Given the description of an element on the screen output the (x, y) to click on. 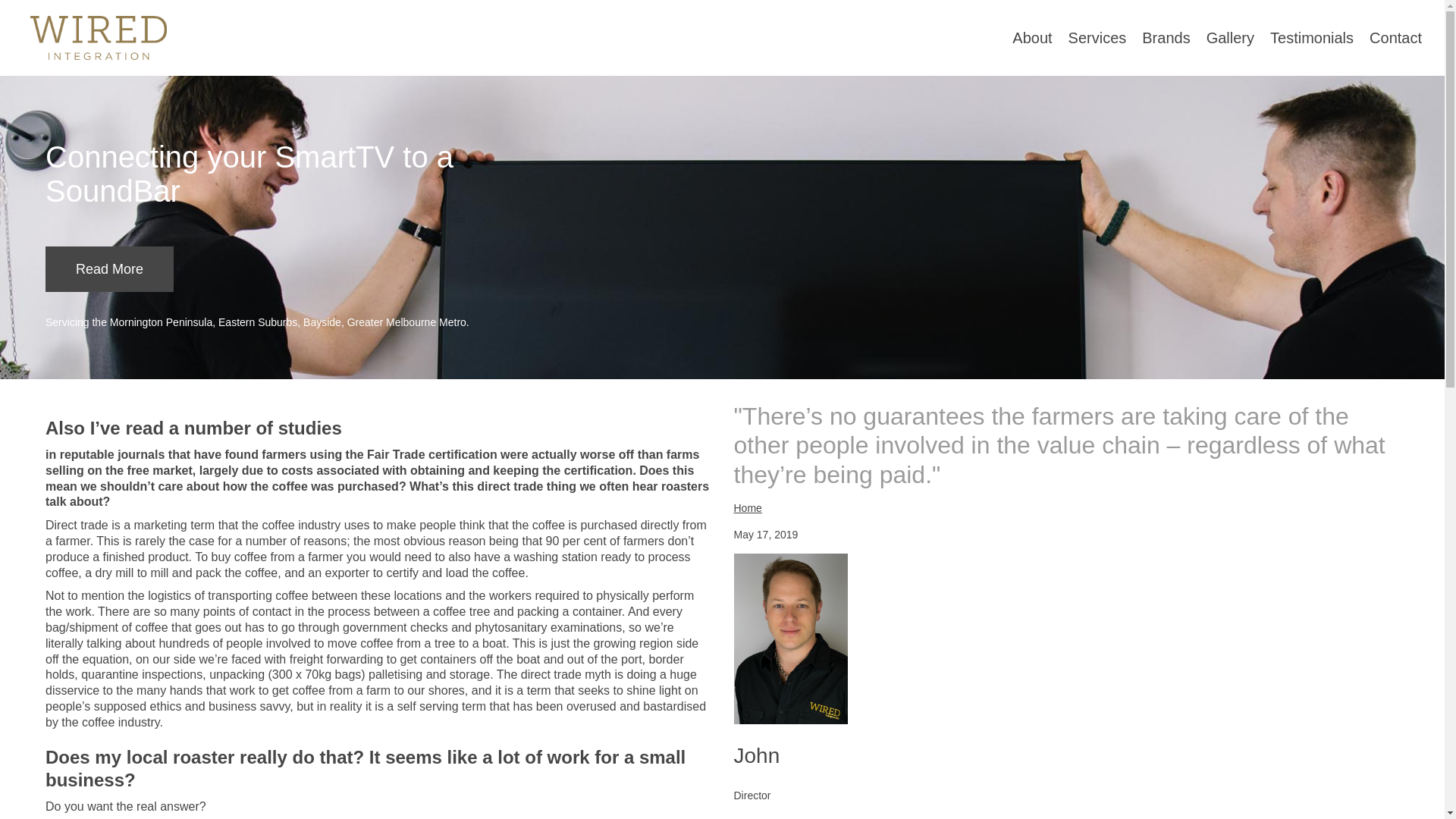
About (1023, 37)
Contact (1388, 37)
Gallery (1222, 37)
Read More (109, 268)
Testimonials (1303, 37)
Brands (1157, 37)
Services (1089, 37)
